Given the description of an element on the screen output the (x, y) to click on. 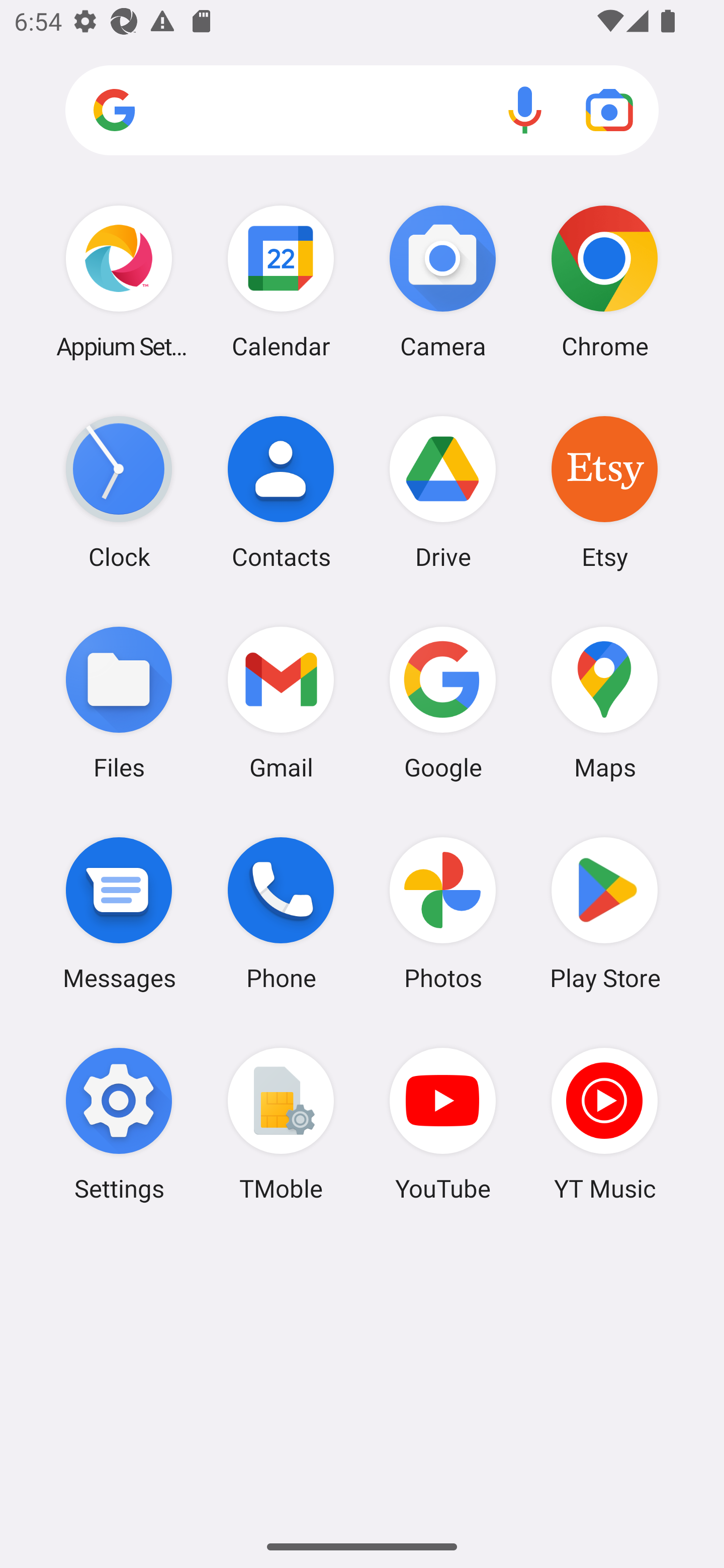
Search apps, web and more (361, 110)
Voice search (524, 109)
Google Lens (608, 109)
Appium Settings (118, 281)
Calendar (280, 281)
Camera (443, 281)
Chrome (604, 281)
Clock (118, 492)
Contacts (280, 492)
Drive (443, 492)
Etsy (604, 492)
Files (118, 702)
Gmail (280, 702)
Google (443, 702)
Maps (604, 702)
Messages (118, 913)
Phone (280, 913)
Photos (443, 913)
Play Store (604, 913)
Settings (118, 1124)
TMoble (280, 1124)
YouTube (443, 1124)
YT Music (604, 1124)
